Given the description of an element on the screen output the (x, y) to click on. 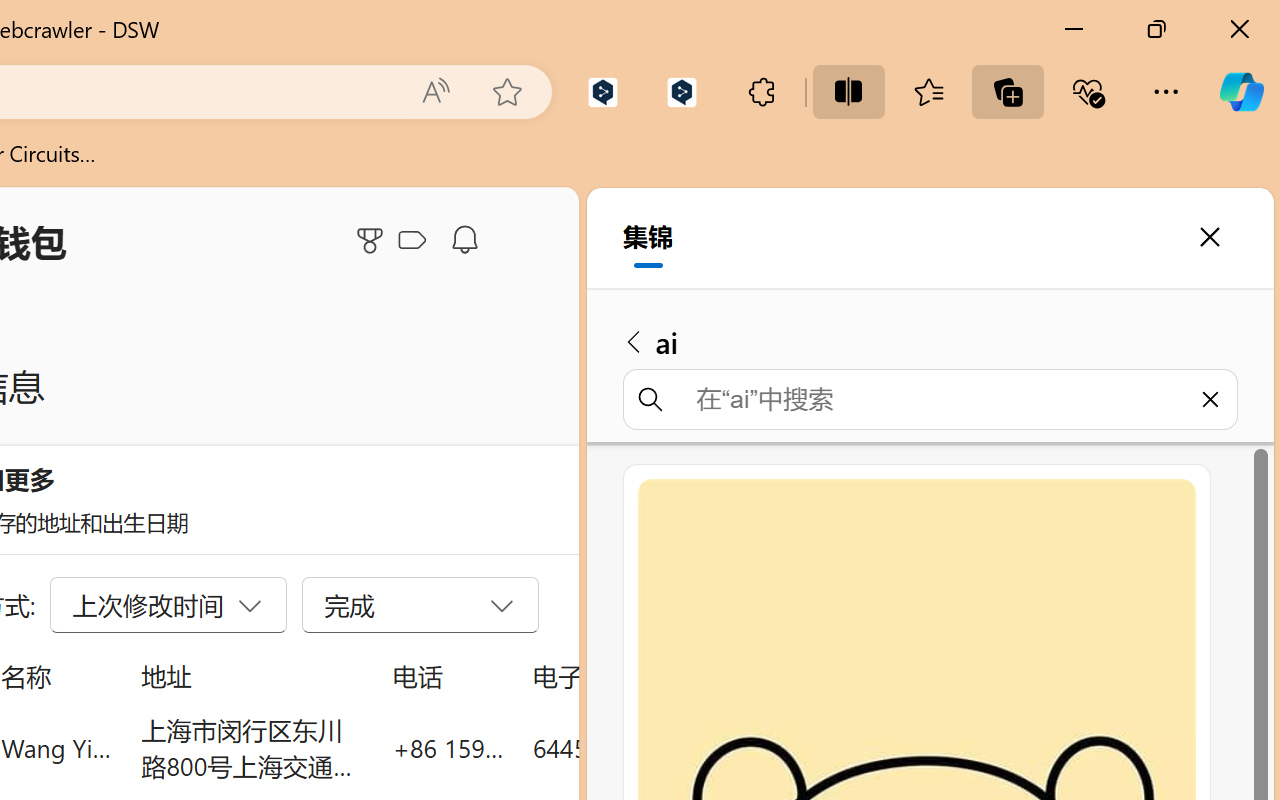
+86 159 0032 4640 (447, 747)
